Given the description of an element on the screen output the (x, y) to click on. 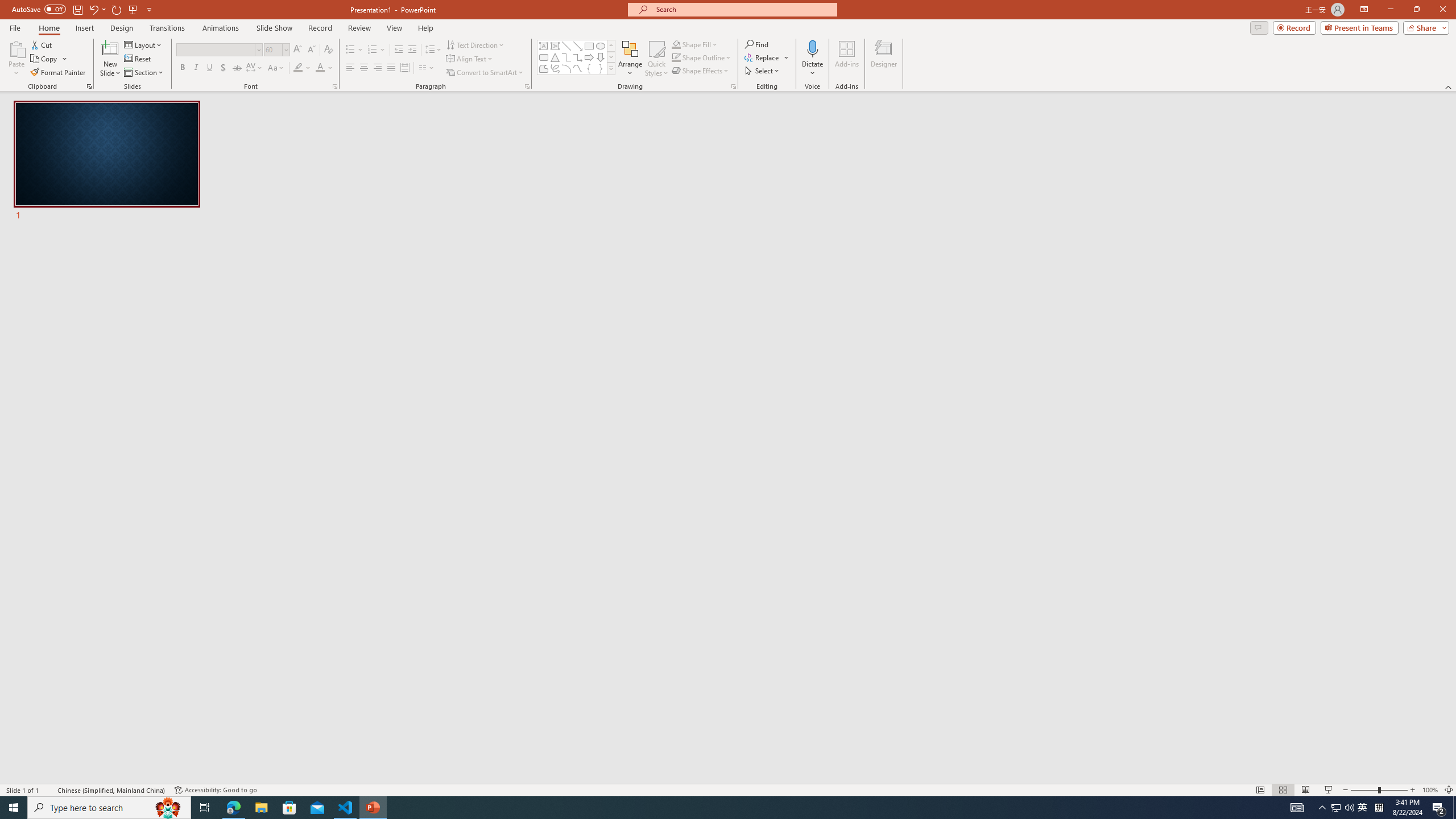
Font Color Red (320, 67)
Distributed (404, 67)
Left Brace (589, 68)
Office Clipboard... (88, 85)
Underline (209, 67)
Line Arrow (577, 45)
Font Color (324, 67)
Align Text (470, 58)
Line (566, 45)
